Given the description of an element on the screen output the (x, y) to click on. 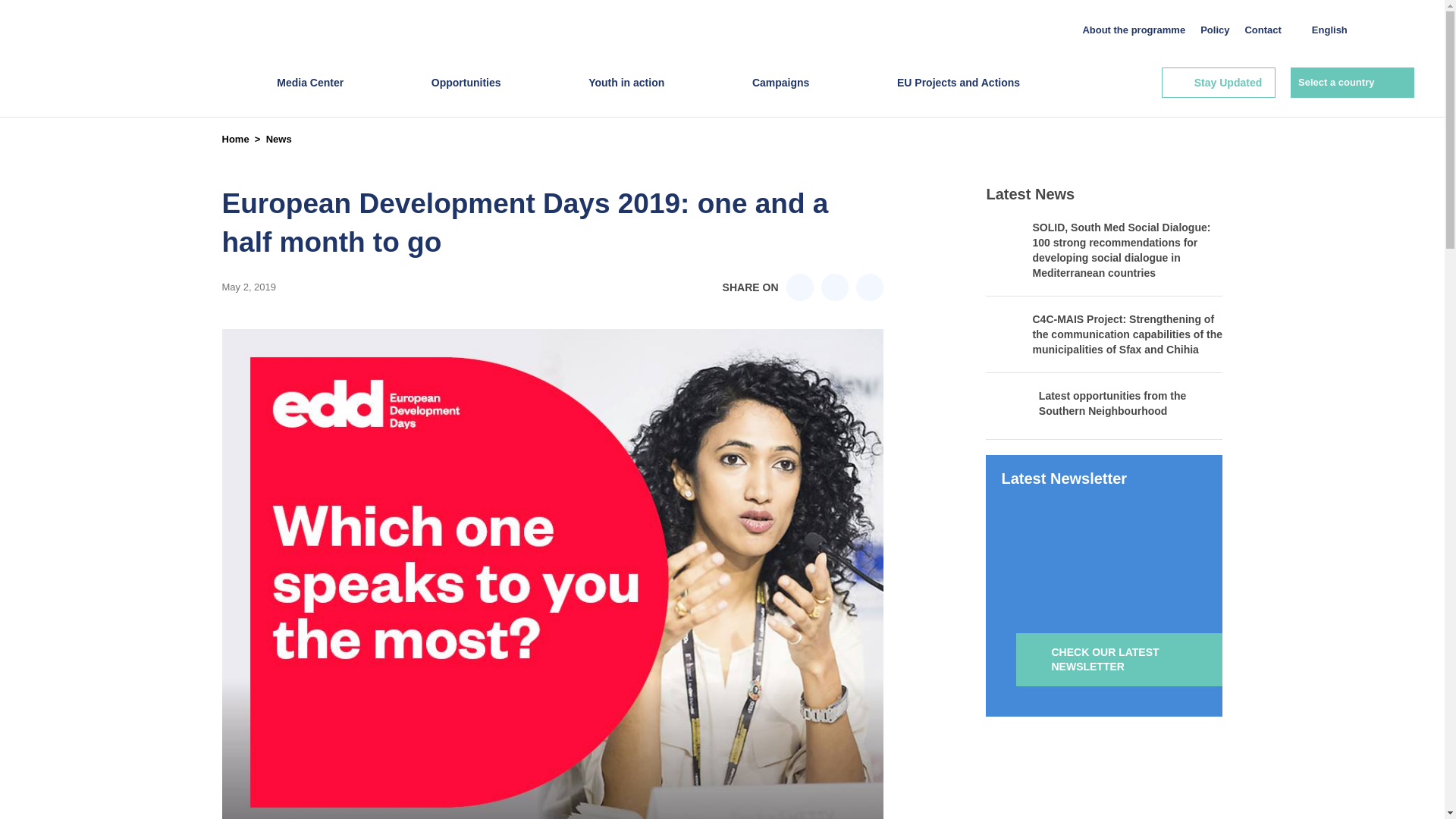
English (1332, 29)
Policy (1213, 30)
Contact (1262, 30)
Media Center (309, 97)
About the programme (1133, 30)
